Given the description of an element on the screen output the (x, y) to click on. 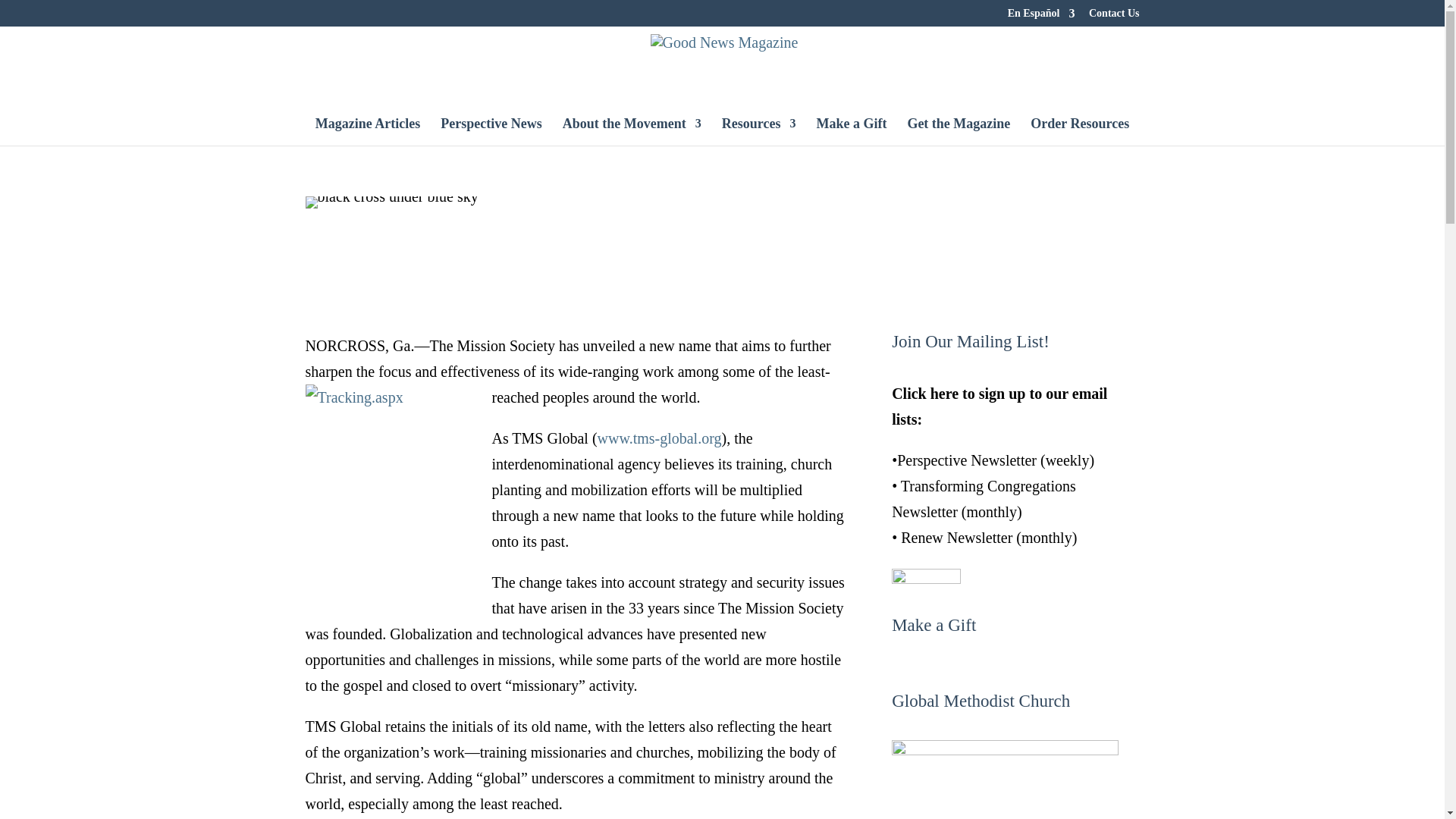
www.tms-global.org (659, 437)
Get the Magazine (958, 131)
Perspective News (491, 131)
gdn-home-slider-gmclogo (1004, 779)
Contact Us (1114, 16)
Order Resources (1079, 131)
About the Movement (631, 131)
Magazine Articles (367, 131)
Resources (759, 131)
Make a Gift (850, 131)
